Given the description of an element on the screen output the (x, y) to click on. 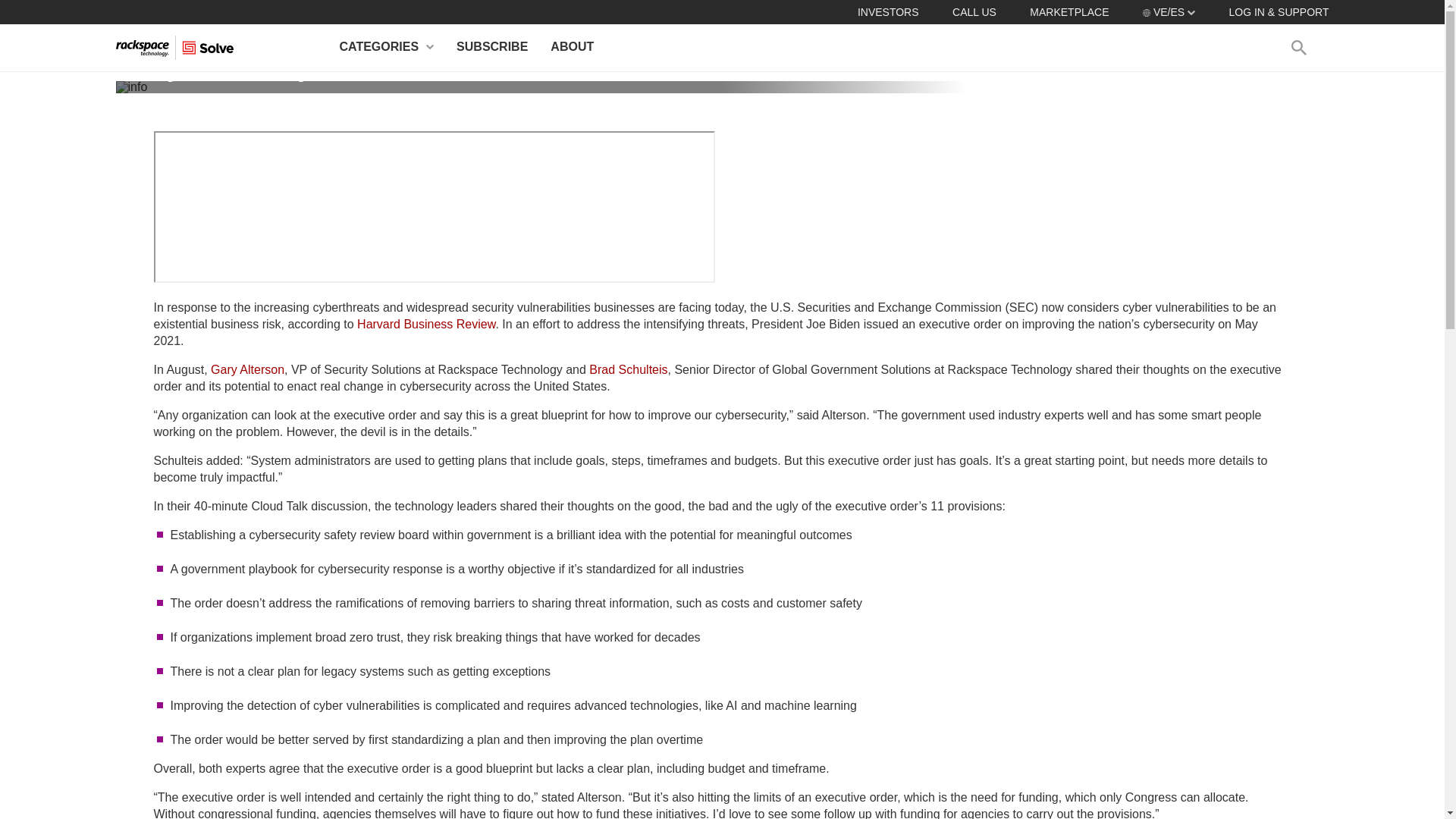
CATEGORIES (386, 47)
ABOUT (571, 47)
INVESTORS (887, 11)
MARKETPLACE (1068, 11)
CALL US (973, 11)
SUBSCRIBE (491, 47)
